Given the description of an element on the screen output the (x, y) to click on. 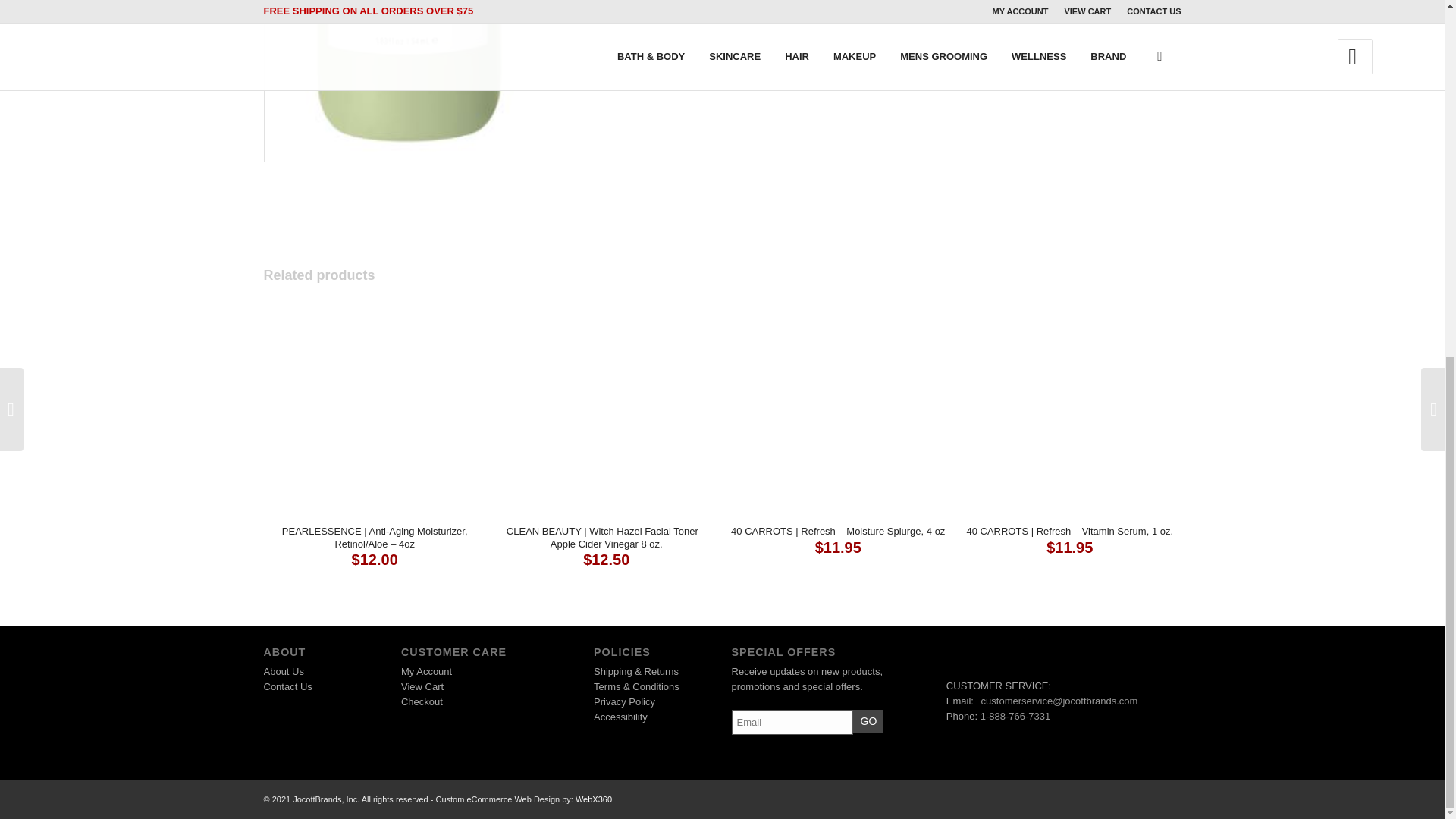
payment options (318, 730)
secure online ordering (461, 731)
GO (868, 721)
Avocado20Facial20Oil.jpg (414, 79)
Email (792, 722)
